Given the description of an element on the screen output the (x, y) to click on. 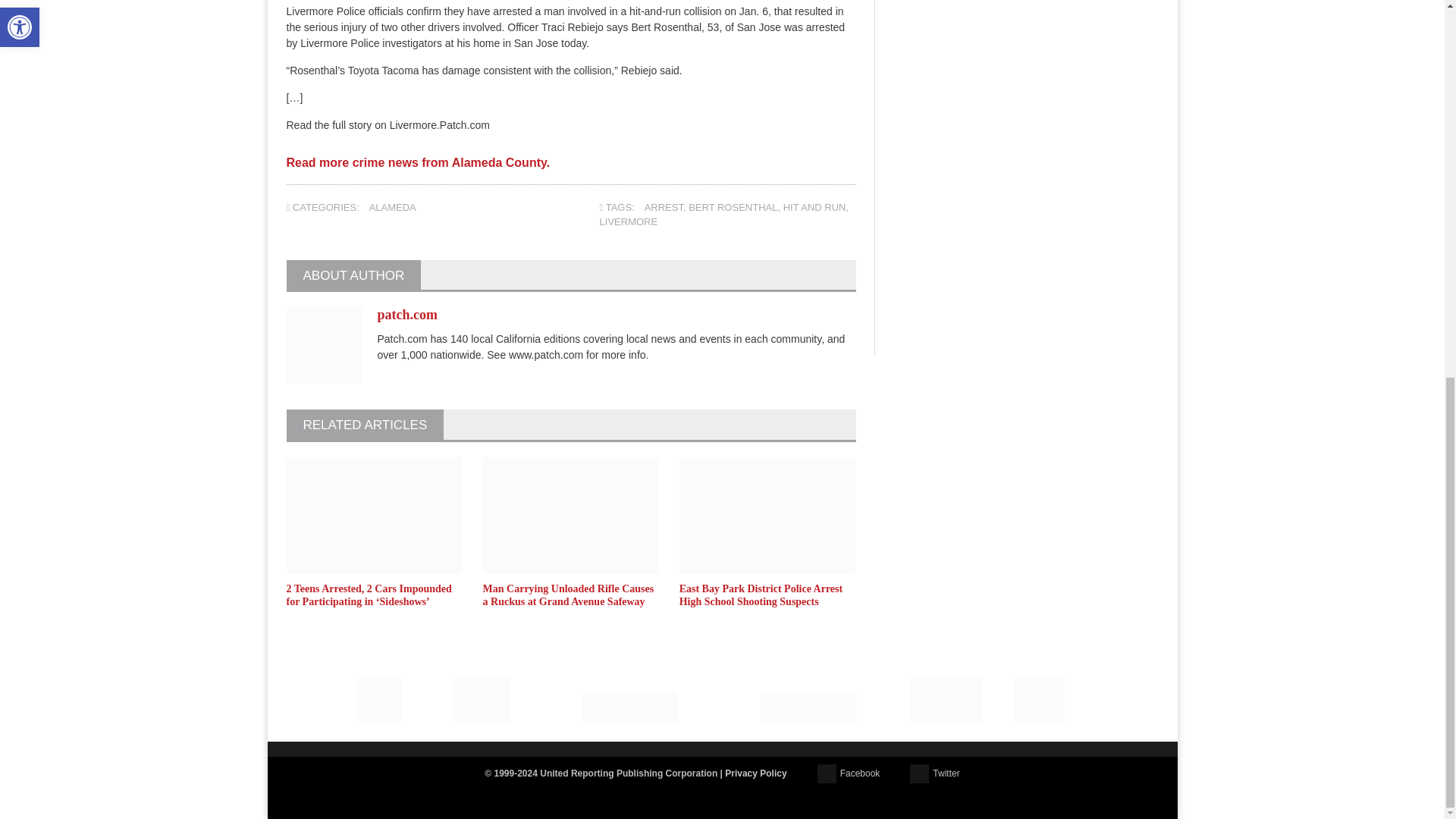
BERT ROSENTHAL (732, 206)
ALAMEDA (392, 206)
patch.com (407, 314)
LIVERMORE (628, 221)
Read more crime news from Alameda County. (418, 168)
ARREST (663, 206)
HIT AND RUN (814, 206)
